Given the description of an element on the screen output the (x, y) to click on. 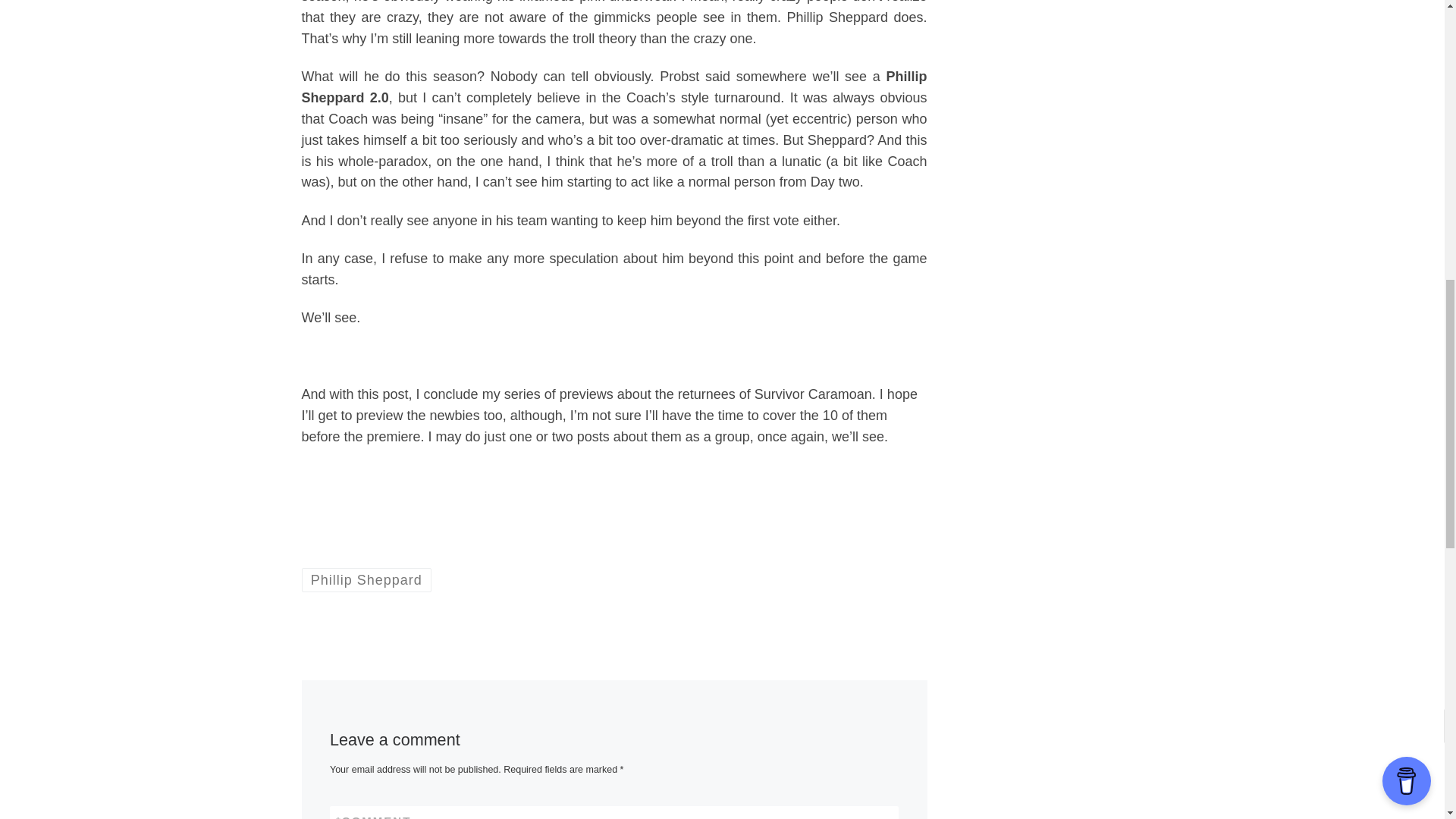
View all posts in Phillip Sheppard (366, 579)
